Given the description of an element on the screen output the (x, y) to click on. 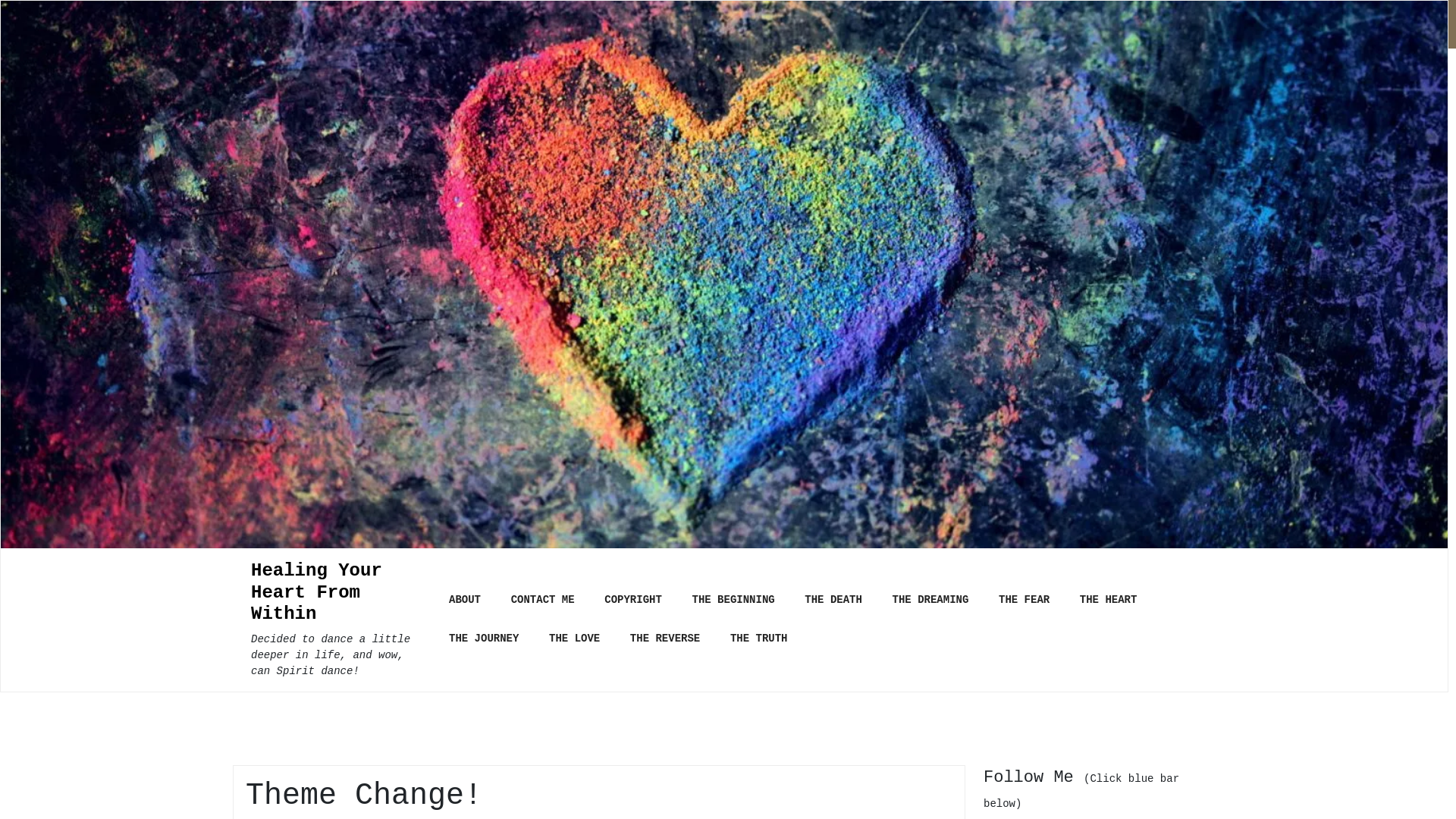
THE FEAR Element type: text (1023, 599)
THE HEART Element type: text (1108, 599)
THE DEATH Element type: text (833, 599)
THE BEGINNING Element type: text (732, 599)
THE LOVE Element type: text (574, 638)
THE DREAMING Element type: text (930, 599)
CONTACT ME Element type: text (542, 599)
COPYRIGHT Element type: text (633, 599)
ABOUT Element type: text (464, 599)
Healing Your Heart From Within Element type: text (338, 592)
THE TRUTH Element type: text (758, 638)
THE REVERSE Element type: text (664, 638)
THE JOURNEY Element type: text (483, 638)
